Given the description of an element on the screen output the (x, y) to click on. 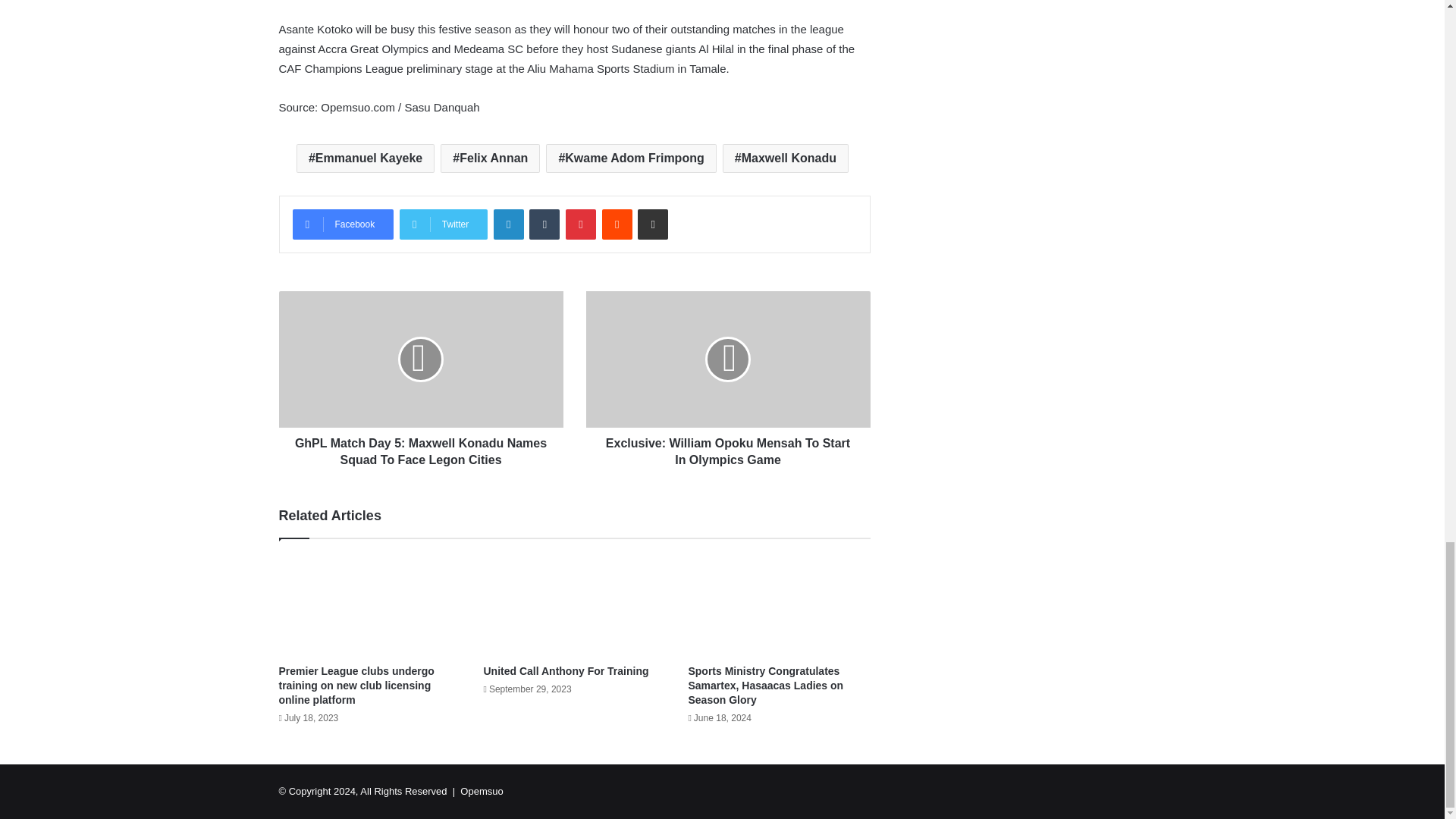
Twitter (442, 224)
Reddit (616, 224)
Tumblr (544, 224)
Share via Email (652, 224)
LinkedIn (508, 224)
Facebook (343, 224)
Pinterest (580, 224)
